Given the description of an element on the screen output the (x, y) to click on. 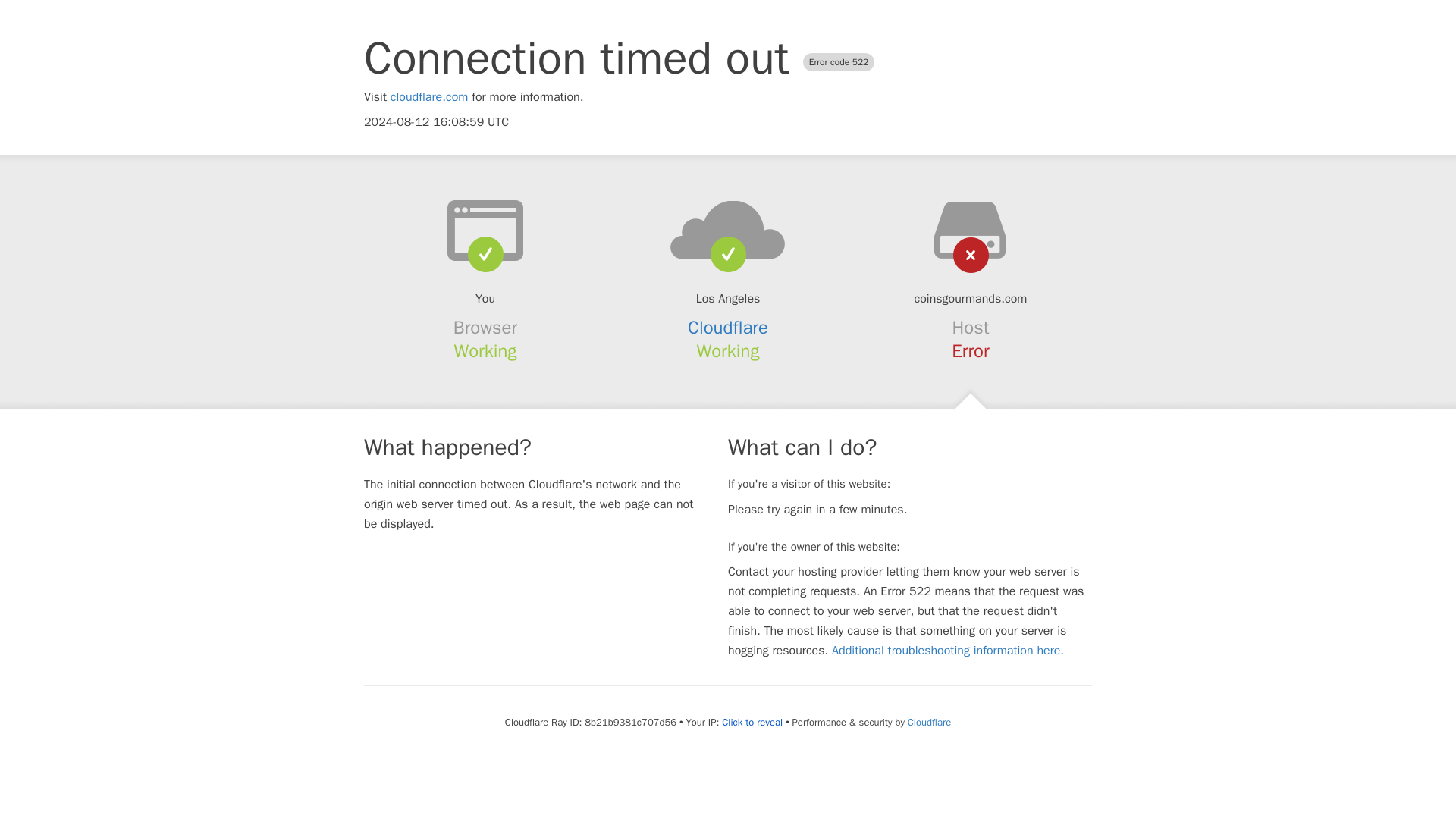
Additional troubleshooting information here. (947, 650)
Click to reveal (752, 722)
cloudflare.com (429, 96)
Cloudflare (928, 721)
Cloudflare (727, 327)
